Given the description of an element on the screen output the (x, y) to click on. 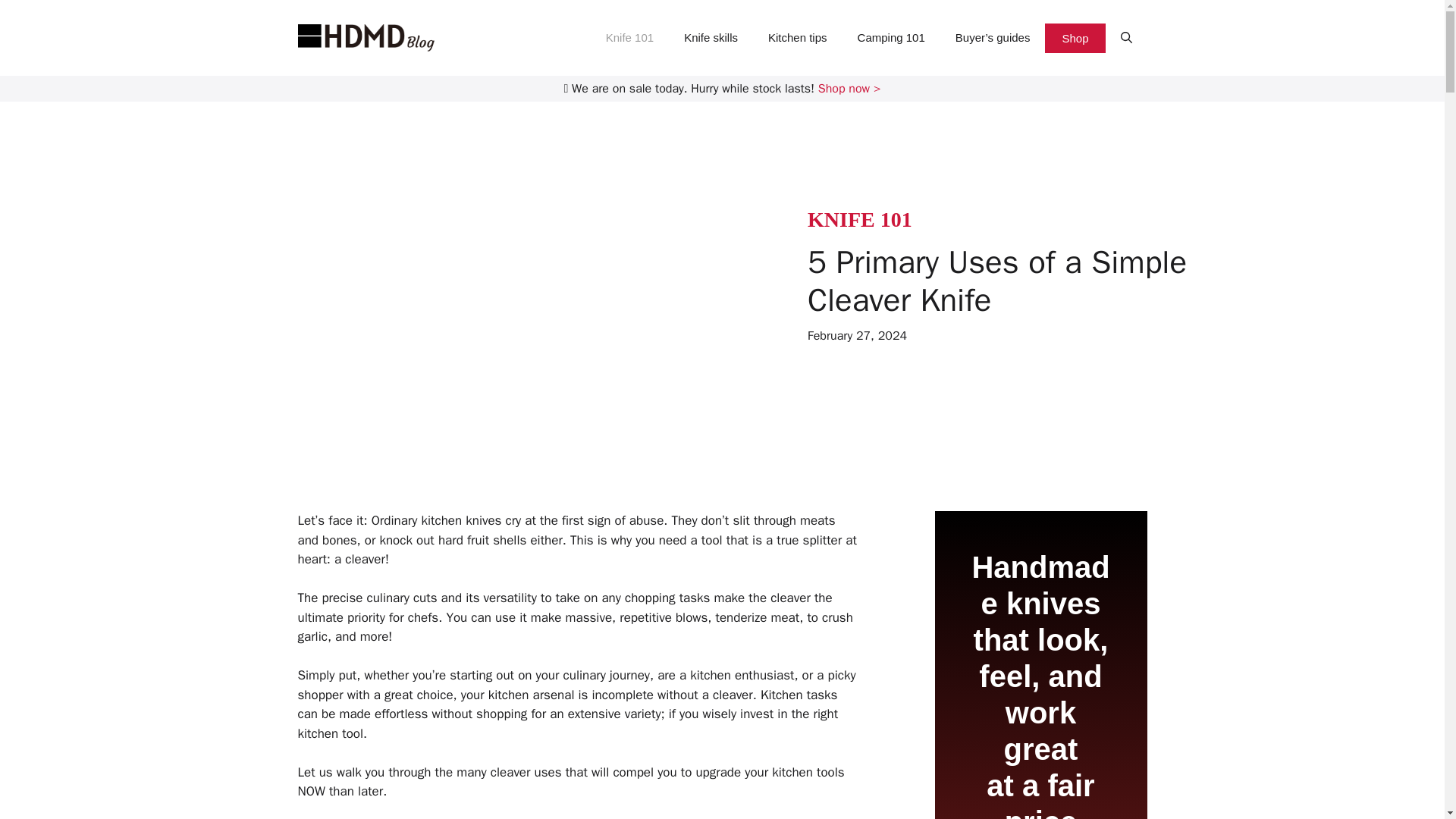
KNIFE 101 (860, 219)
Camping 101 (891, 37)
Shop (1075, 37)
Kitchen tips (797, 37)
Knife skills (710, 37)
Knife 101 (629, 37)
